Given the description of an element on the screen output the (x, y) to click on. 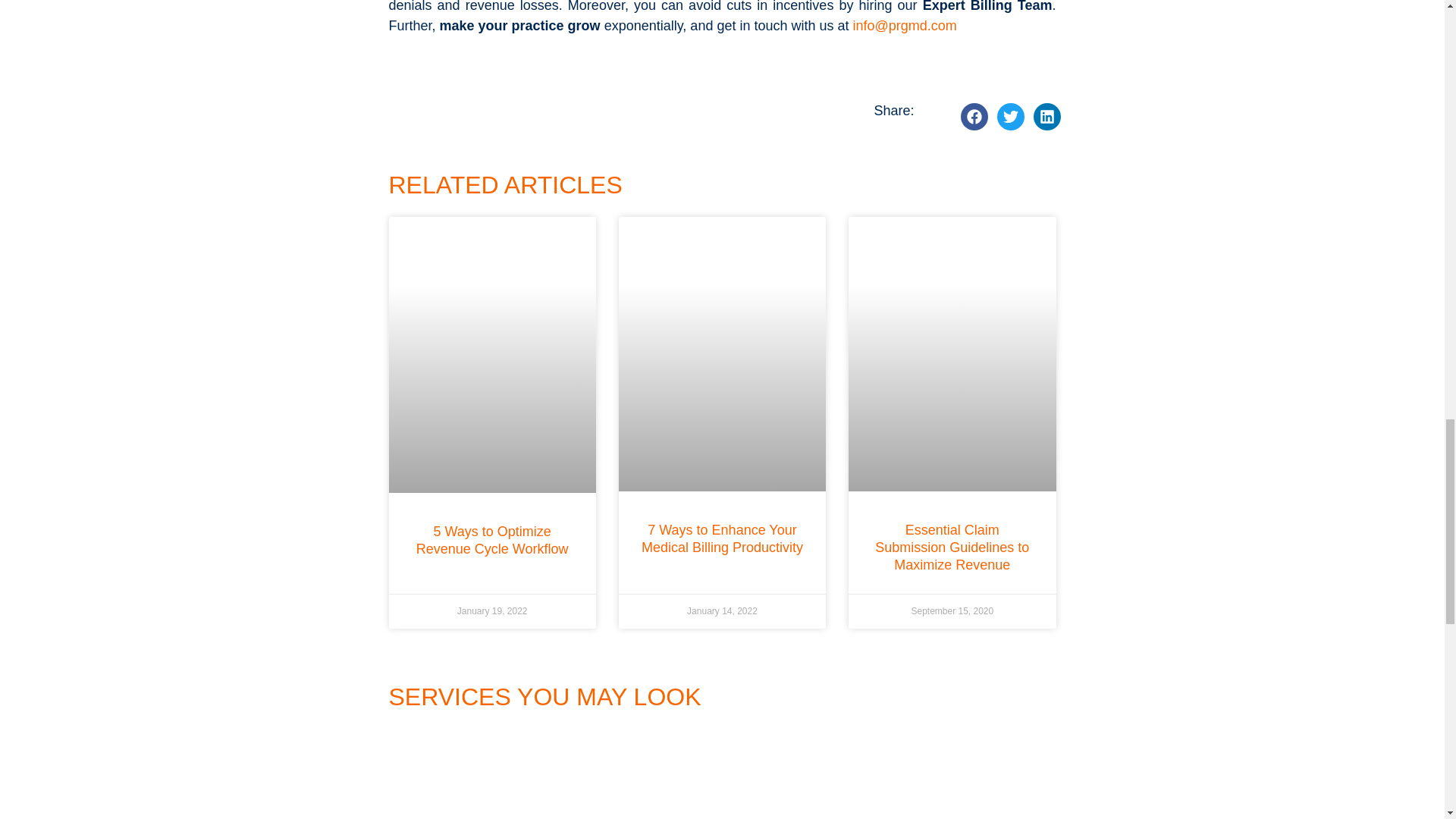
7 Ways to Enhance Your Medical Billing Productivity (722, 538)
5 Ways to Optimize Revenue Cycle Workflow (492, 540)
